Given the description of an element on the screen output the (x, y) to click on. 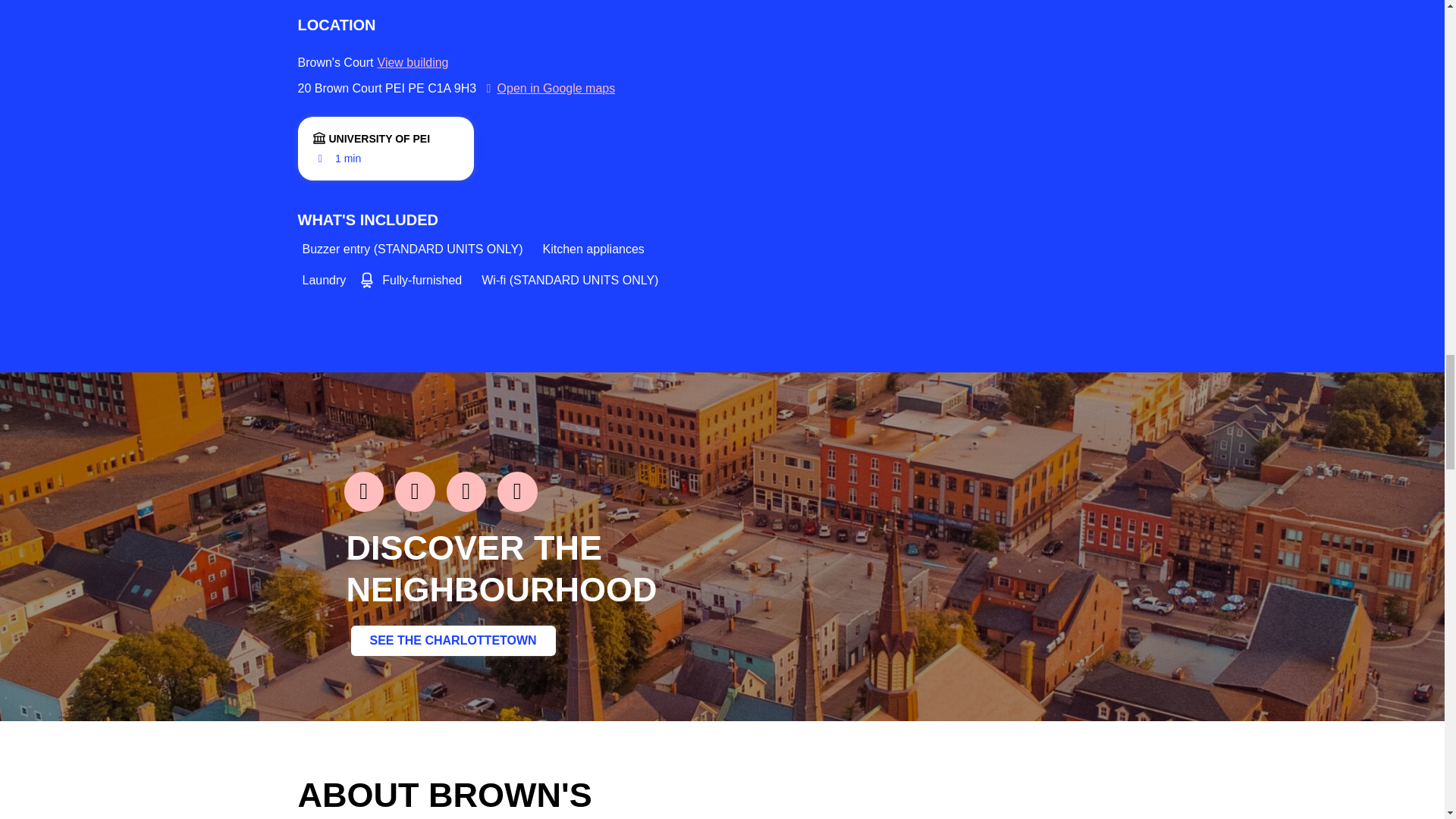
SEE THE CHARLOTTETOWN (452, 640)
Open in Google maps (547, 88)
View building (412, 63)
